Given the description of an element on the screen output the (x, y) to click on. 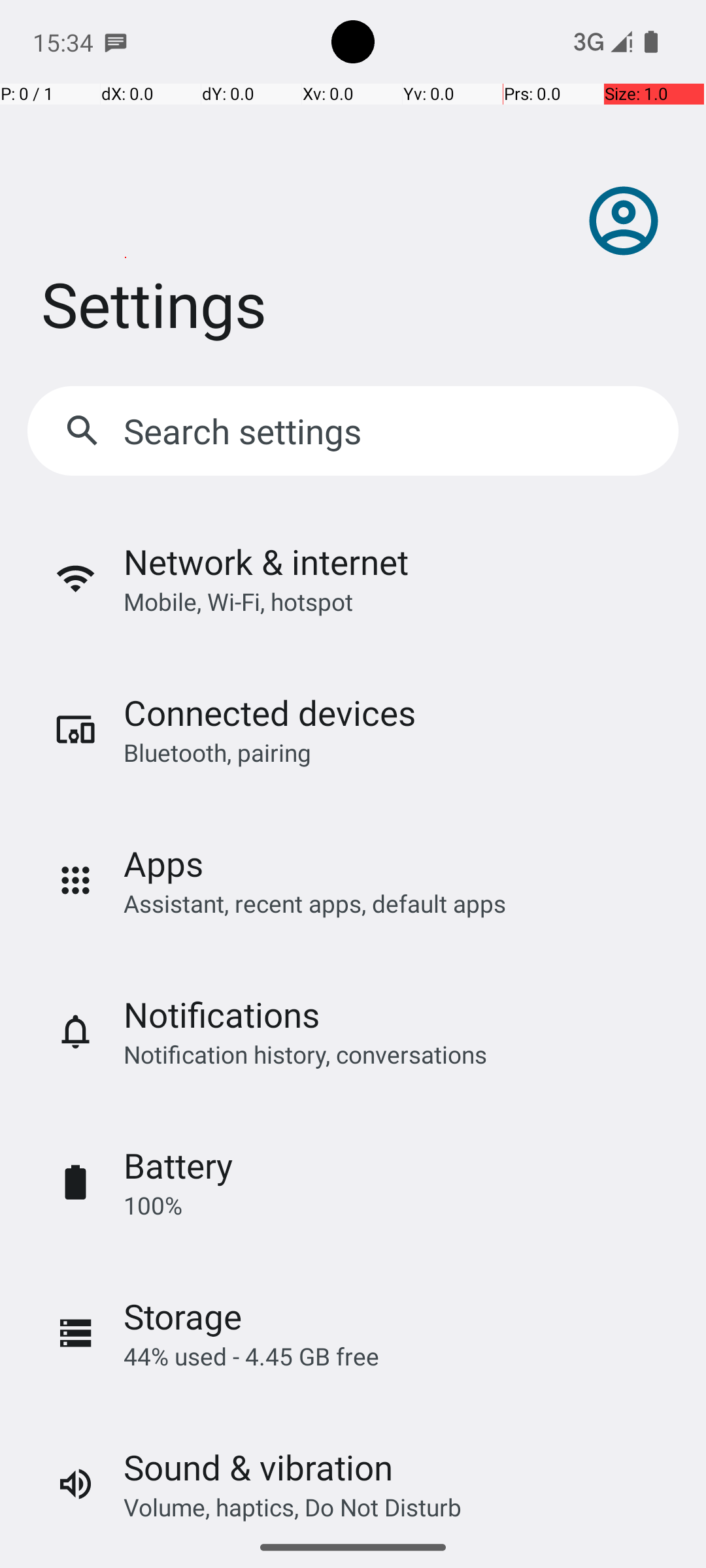
44% used - 4.45 GB free Element type: android.widget.TextView (251, 1355)
